Given the description of an element on the screen output the (x, y) to click on. 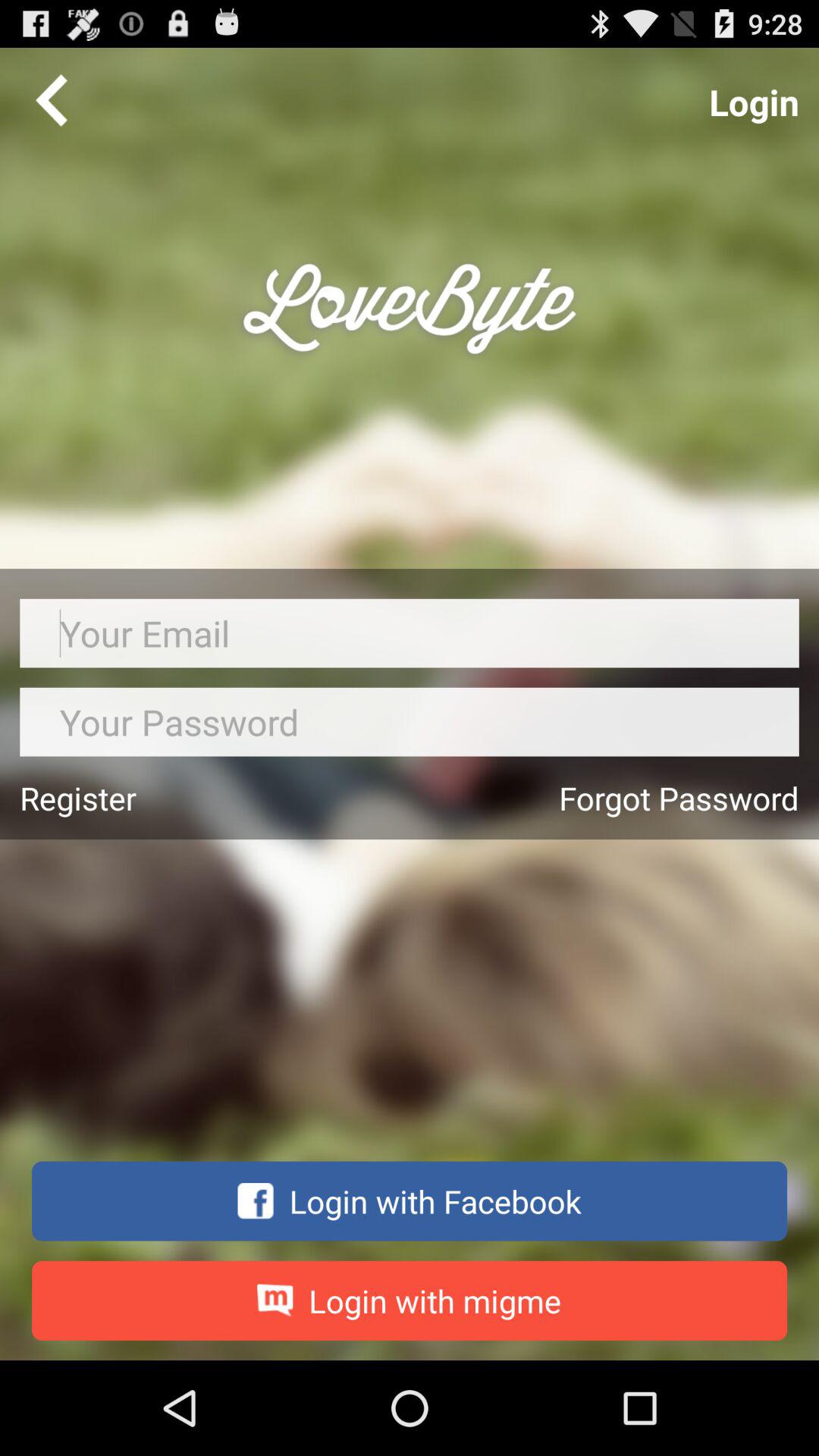
undo (51, 99)
